Given the description of an element on the screen output the (x, y) to click on. 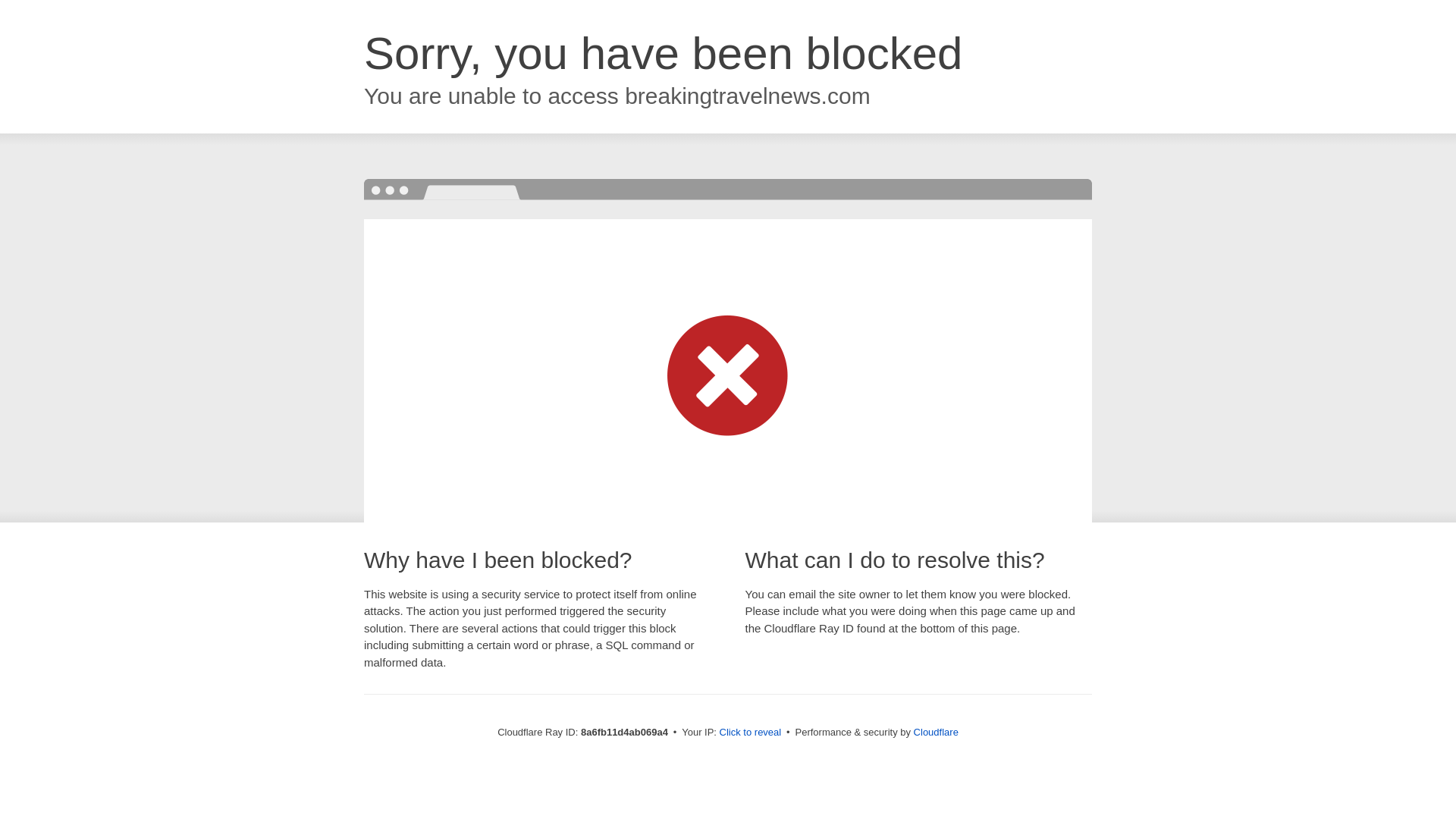
Cloudflare (936, 731)
Click to reveal (750, 732)
